Given the description of an element on the screen output the (x, y) to click on. 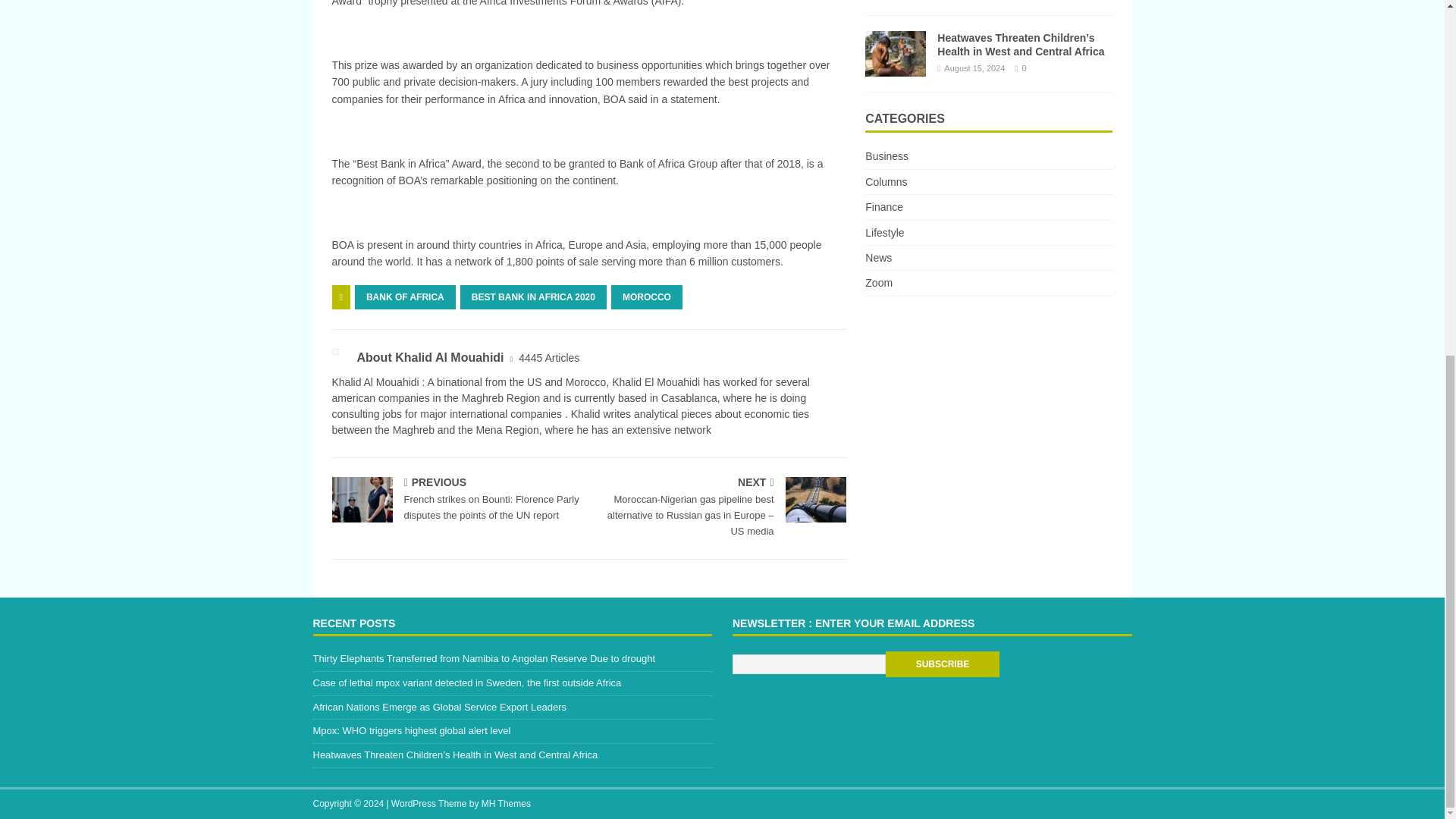
4445 Articles (548, 358)
Subscribe (941, 664)
MOROCCO (646, 297)
More articles written by Khalid Al Mouahidi' (548, 358)
BANK OF AFRICA (405, 297)
BEST BANK IN AFRICA 2020 (533, 297)
